Given the description of an element on the screen output the (x, y) to click on. 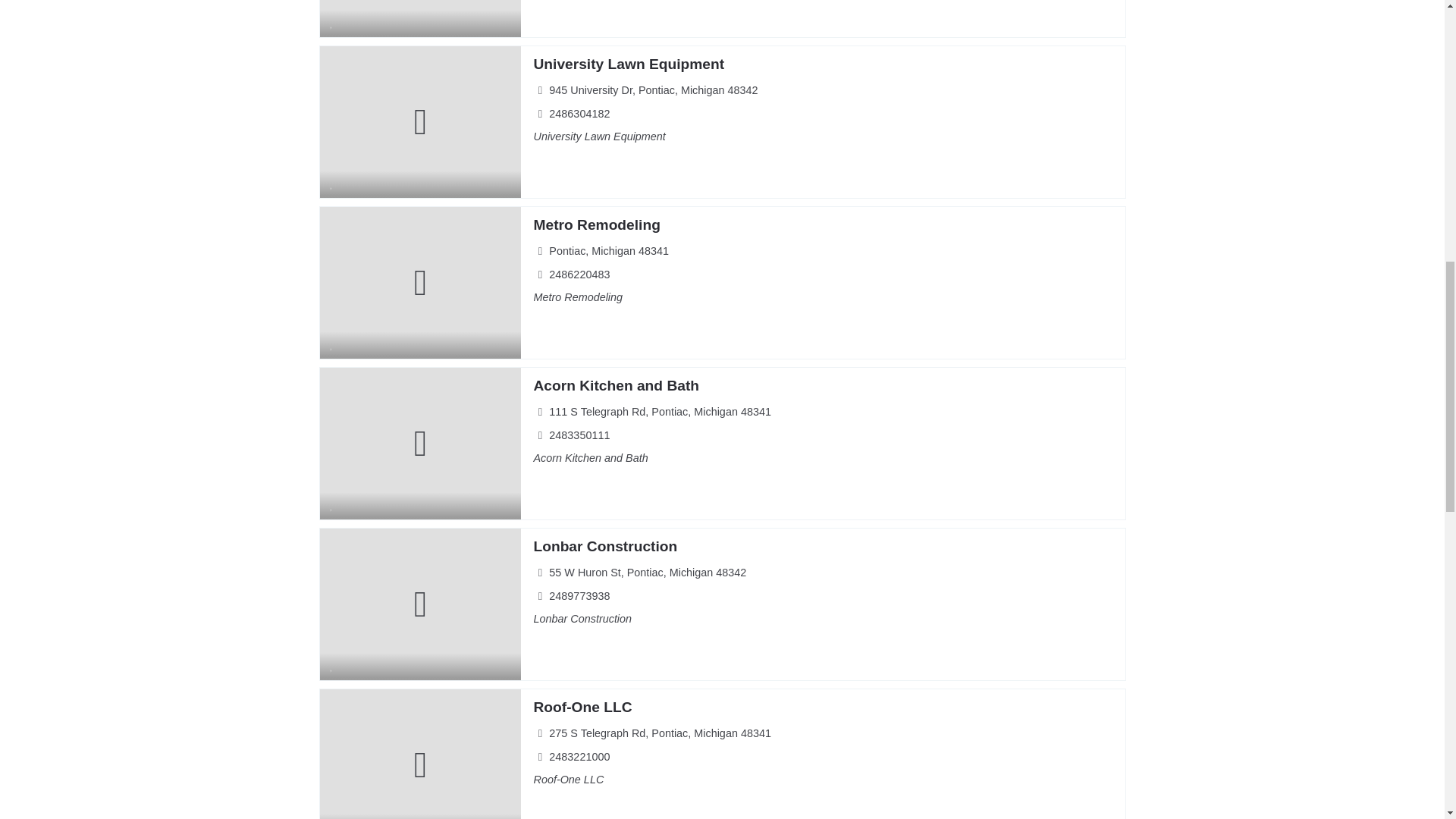
University Lawn Equipment (627, 64)
Acorn Kitchen and Bath (615, 385)
Metro Remodeling (595, 224)
Roof-One LLC (581, 706)
University Lawn Equipment (627, 64)
Lonbar Construction (604, 546)
Bookmark (331, 815)
Acorn Kitchen and Bath (615, 385)
Metro Remodeling (595, 224)
